Given the description of an element on the screen output the (x, y) to click on. 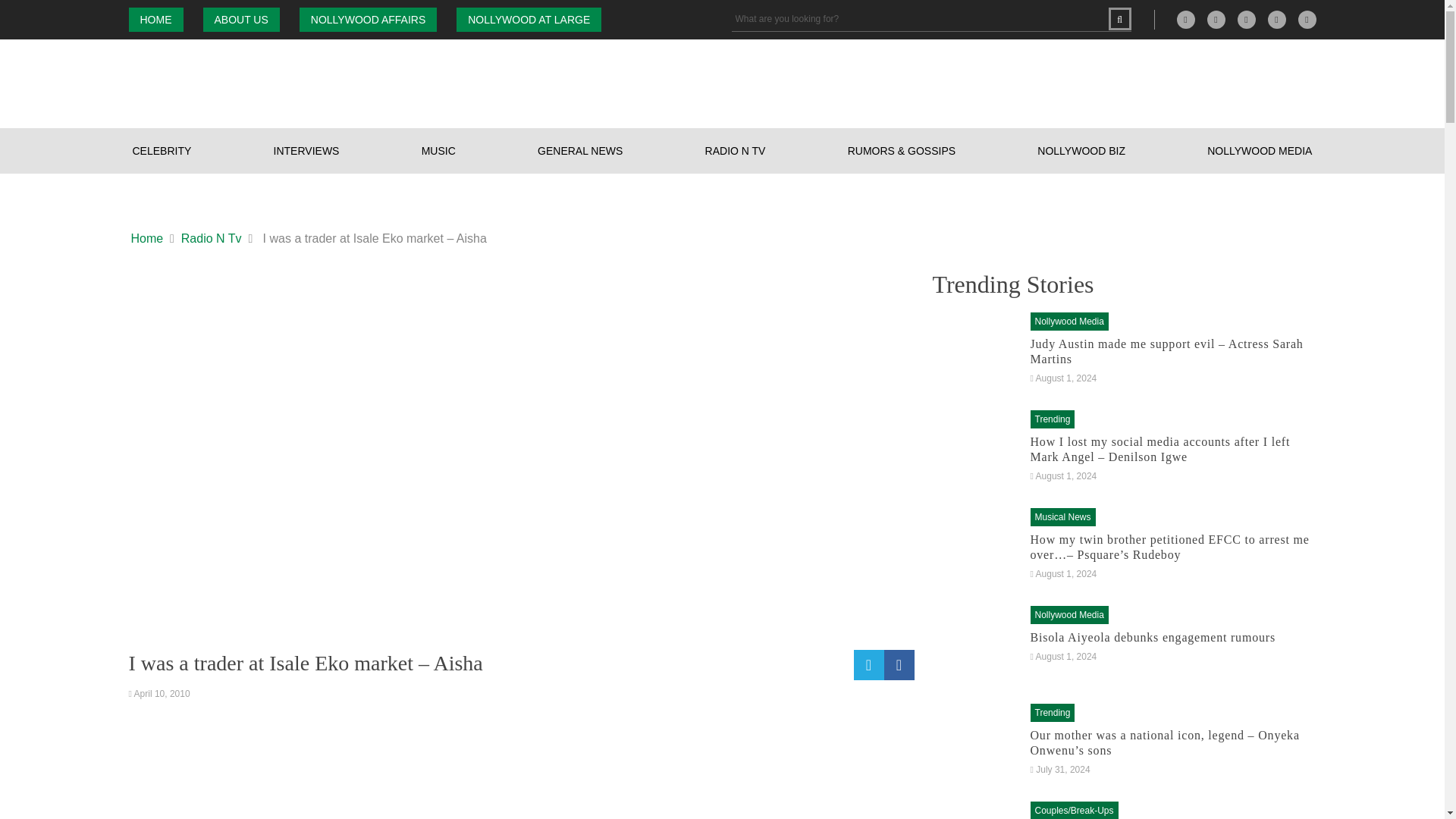
ABOUT US (241, 19)
Twitter (1276, 19)
Search (1119, 18)
HOME (156, 19)
NOLLYWOOD AT LARGE (529, 19)
MUSIC (438, 150)
GENERAL NEWS (580, 150)
Google plus (1185, 19)
Youtube (1307, 19)
Home (147, 239)
CELEBRITY (162, 150)
Radio N Tv (210, 239)
NOLLYWOOD AFFAIRS (367, 19)
Facebook (1216, 19)
NOLLYWOOD MEDIA (1260, 150)
